Given the description of an element on the screen output the (x, y) to click on. 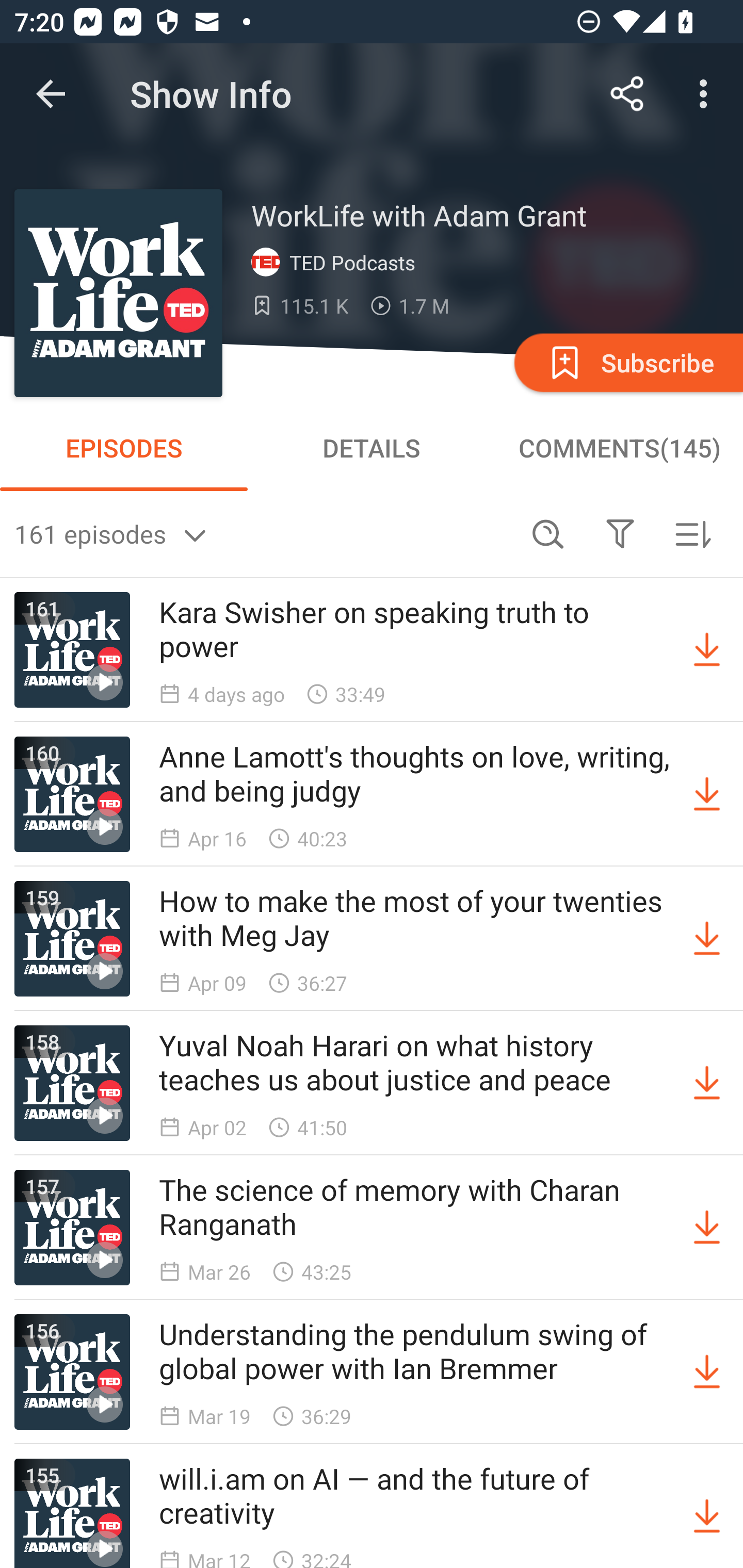
Navigate up (50, 93)
Share (626, 93)
More options (706, 93)
TED Podcasts (337, 262)
Subscribe (627, 361)
EPISODES (123, 447)
DETAILS (371, 447)
COMMENTS(145) (619, 447)
161 episodes  (262, 533)
 Search (547, 533)
 (619, 533)
 Sorted by newest first (692, 533)
Download (706, 649)
Download (706, 793)
Download (706, 939)
Download (706, 1083)
Download (706, 1227)
Download (706, 1371)
Download (706, 1513)
